Given the description of an element on the screen output the (x, y) to click on. 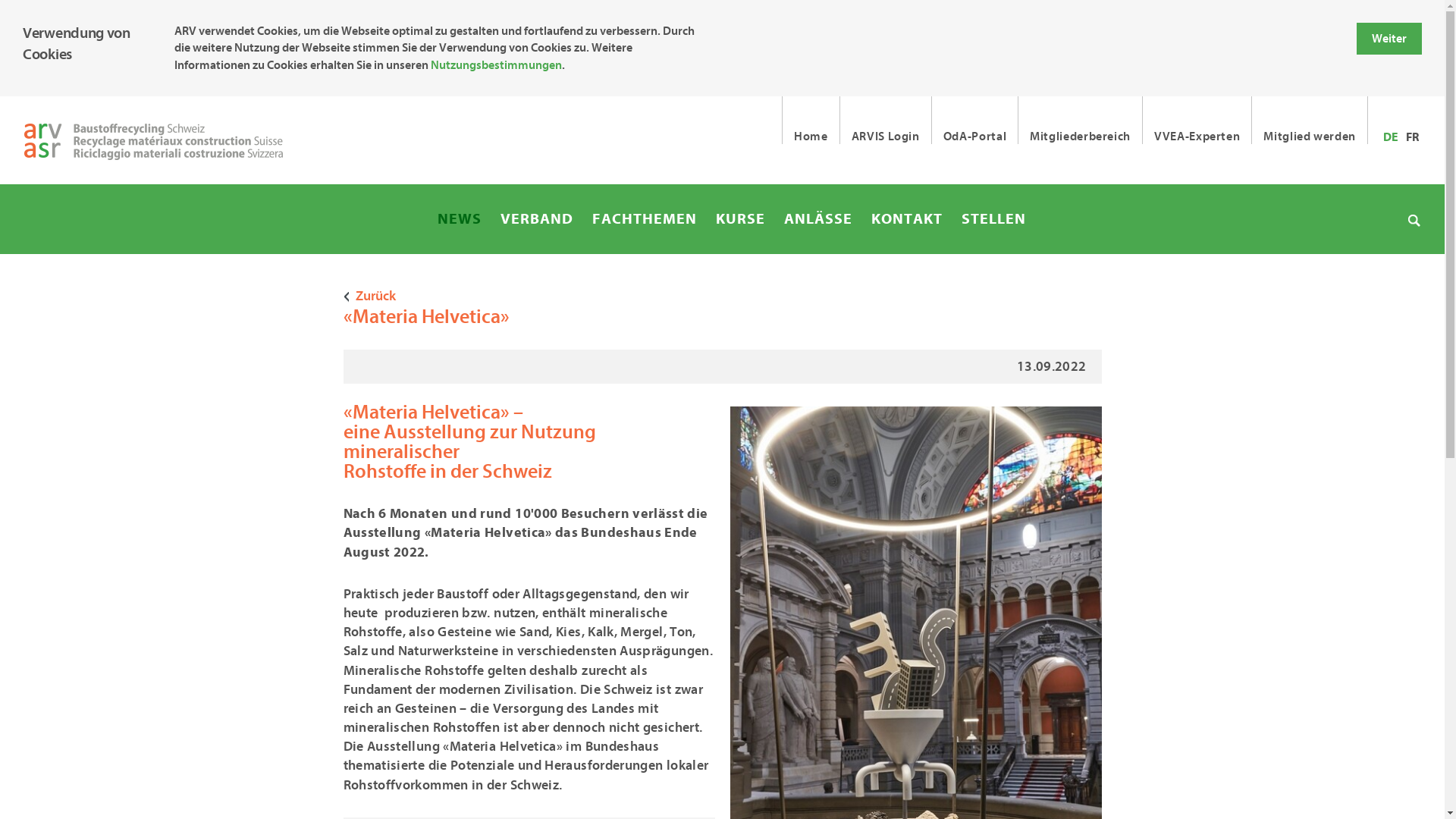
Mitglied werden Element type: text (1309, 120)
FACHTHEMEN Element type: text (644, 218)
Mitgliederbereich Element type: text (1079, 120)
Home Element type: text (810, 120)
FR Element type: text (1411, 137)
Nutzungsbestimmungen Element type: text (495, 65)
ARVIS Login Element type: text (885, 120)
Weiter Element type: text (1388, 38)
DE Element type: text (1390, 137)
KURSE Element type: text (740, 218)
VVEA-Experten Element type: text (1196, 120)
NEWS Element type: text (459, 218)
STELLEN Element type: text (993, 218)
KONTAKT Element type: text (906, 218)
VERBAND Element type: text (536, 218)
OdA-Portal Element type: text (974, 120)
